Given the description of an element on the screen output the (x, y) to click on. 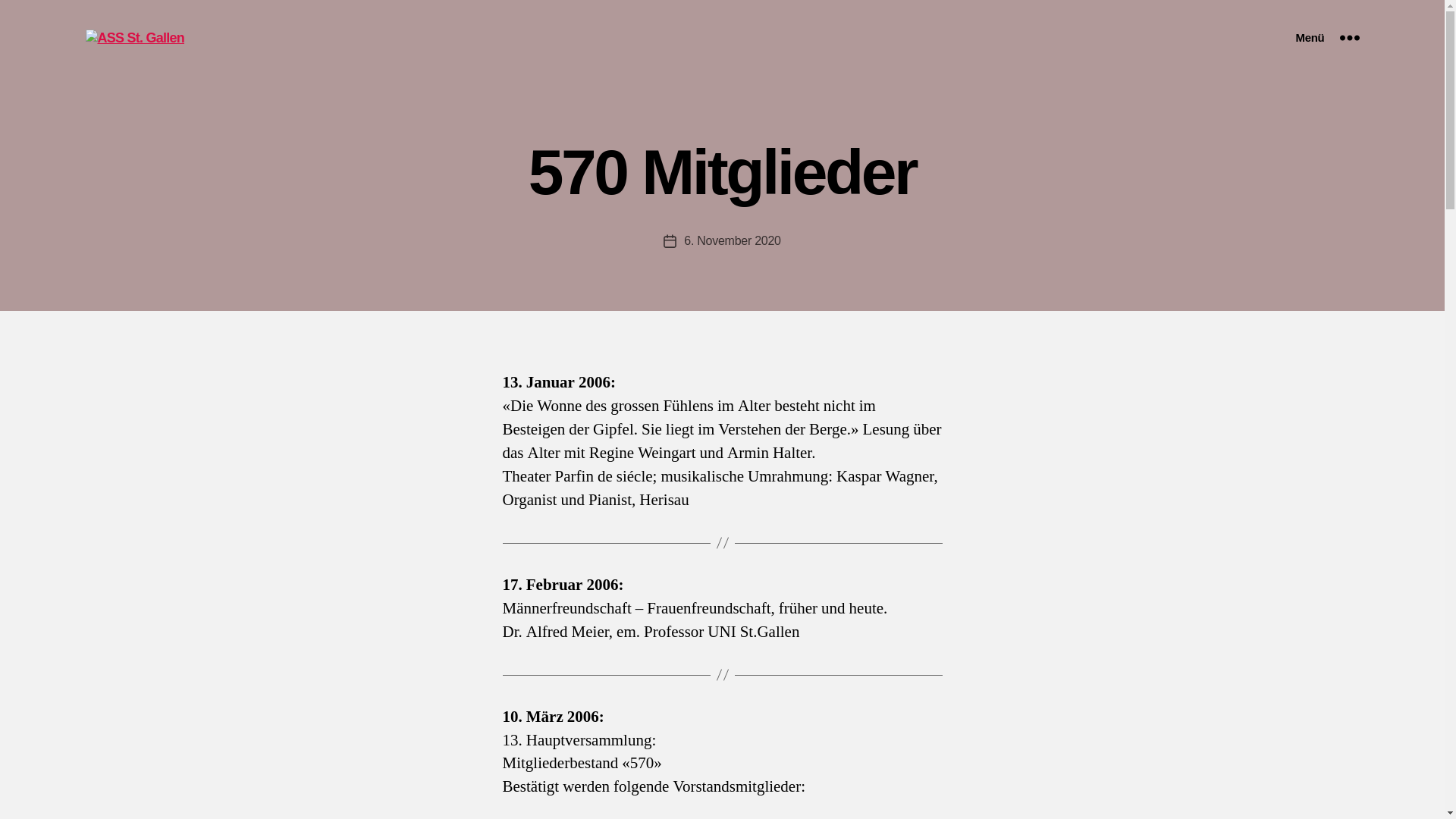
6. November 2020 Element type: text (732, 240)
